Given the description of an element on the screen output the (x, y) to click on. 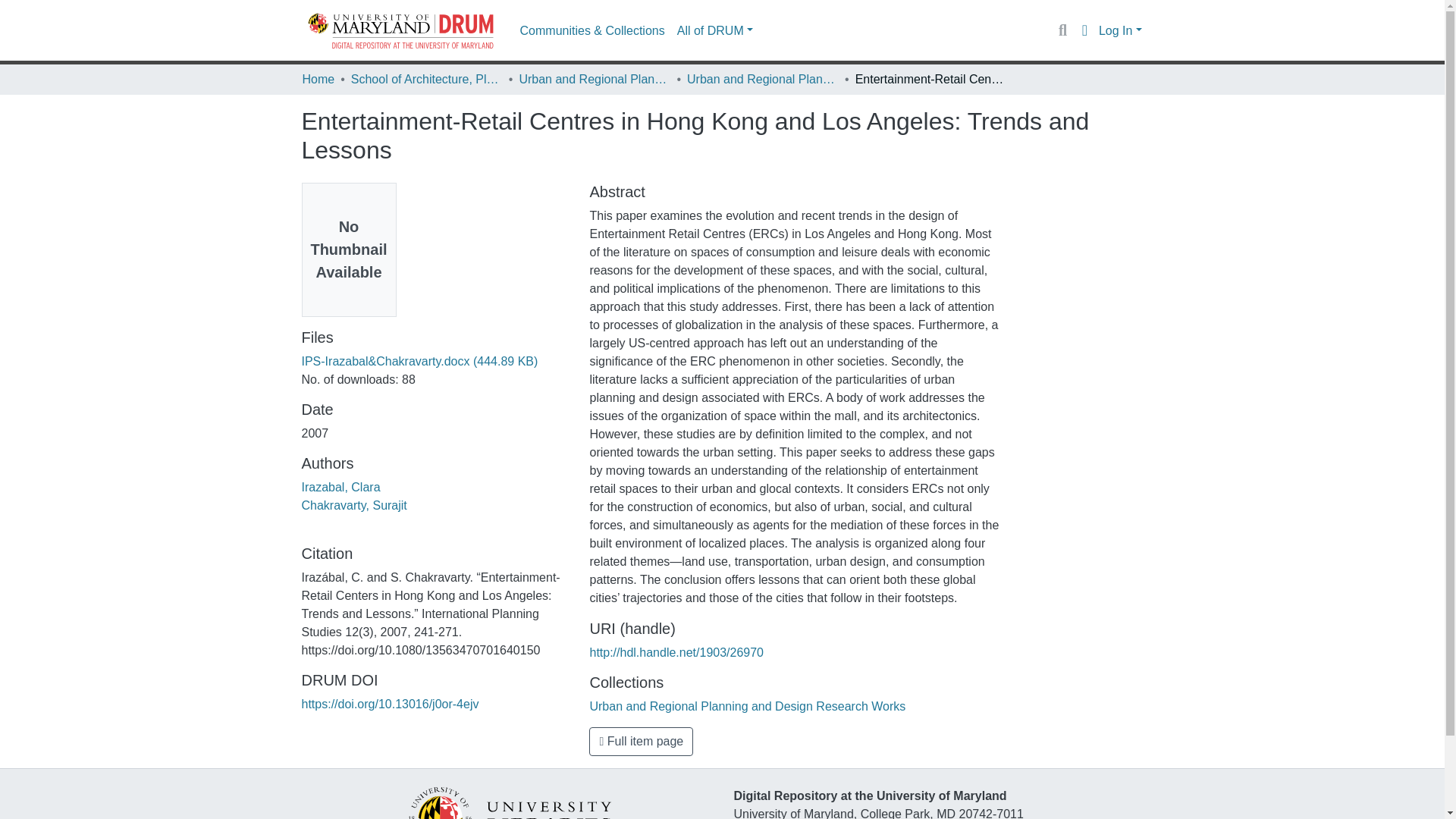
Urban and Regional Planning and Design Research Works (762, 79)
Urban and Regional Planning and Design (593, 79)
Libraries Home Page (508, 814)
Urban and Regional Planning and Design Research Works (747, 706)
All of DRUM (714, 30)
Irazabal, Clara (340, 486)
Log In (1119, 30)
Chakravarty, Surajit (354, 504)
Full item page (641, 741)
Home (317, 79)
Language switch (1084, 30)
Search (1061, 30)
